Given the description of an element on the screen output the (x, y) to click on. 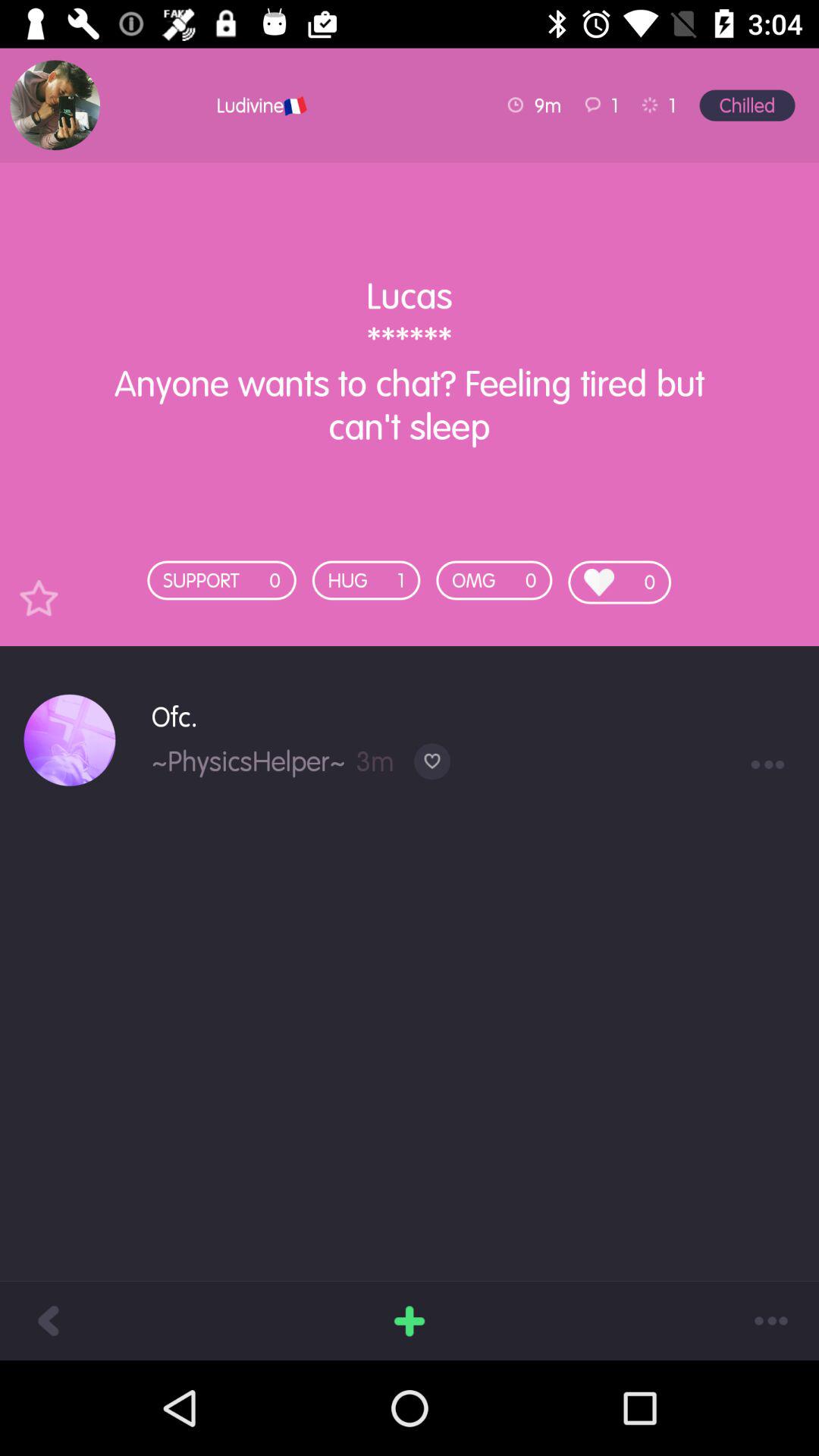
swipe until the ofc. (473, 716)
